Given the description of an element on the screen output the (x, y) to click on. 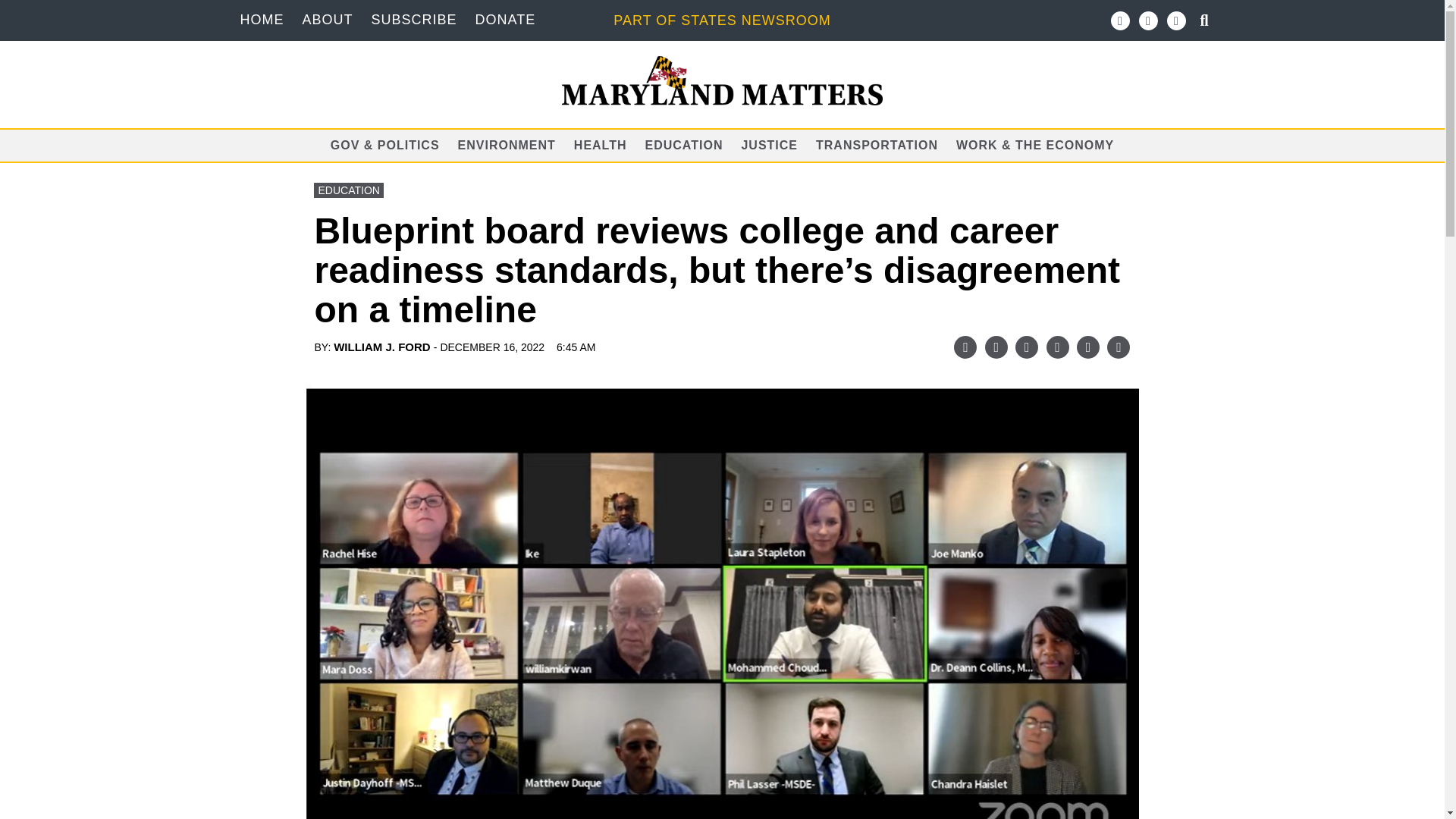
EDUCATION (348, 190)
JUSTICE (769, 144)
search (16, 9)
DONATE (505, 19)
ABOUT (326, 19)
TRANSPORTATION (876, 144)
PART OF STATES NEWSROOM (720, 20)
SUBSCRIBE (414, 19)
ENVIRONMENT (507, 144)
Posts by William J. Ford (381, 346)
Maryland Matters (722, 80)
EDUCATION (684, 144)
HOME (261, 19)
HEALTH (600, 144)
WILLIAM J. FORD (381, 346)
